Given the description of an element on the screen output the (x, y) to click on. 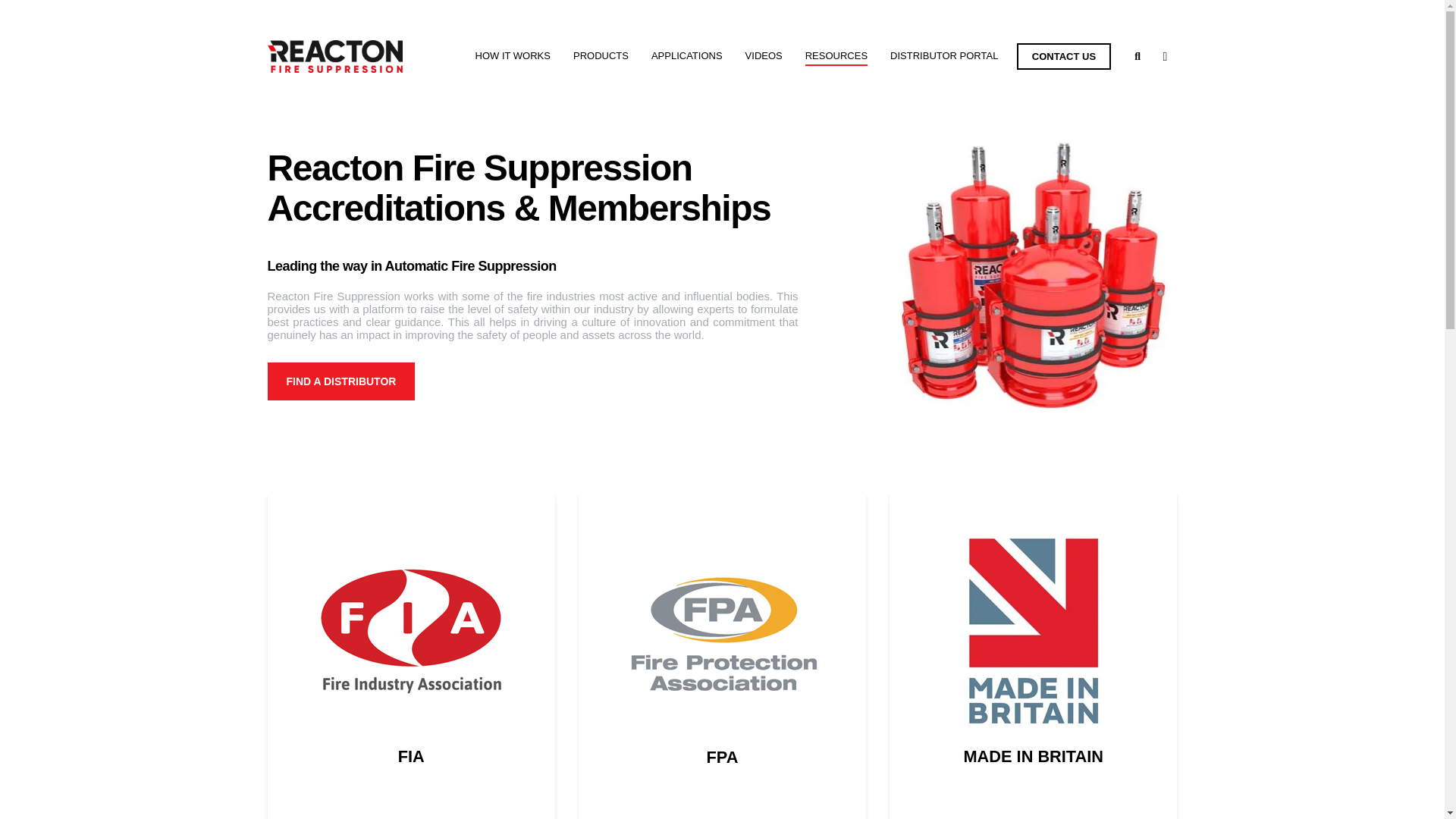
Reacton-Black-Red-Long-Logo-01 (334, 56)
HOW IT WORKS (513, 56)
APPLICATIONS (686, 56)
04-Reacton-Accreditations-and-Memberships-Made-in-Britain-01 (1033, 630)
PRODUCTS (600, 56)
DISTRIBUTOR PORTAL (943, 56)
VIDEOS (764, 56)
RESOURCES (836, 56)
01-Reacton-Accreditations-and-Memberships-01 (1032, 273)
02-Reacton-Accreditations-and-Memberships-FIA-Logo-01 (410, 630)
Fireassociation (721, 643)
CONTACT US (1063, 56)
